Given the description of an element on the screen output the (x, y) to click on. 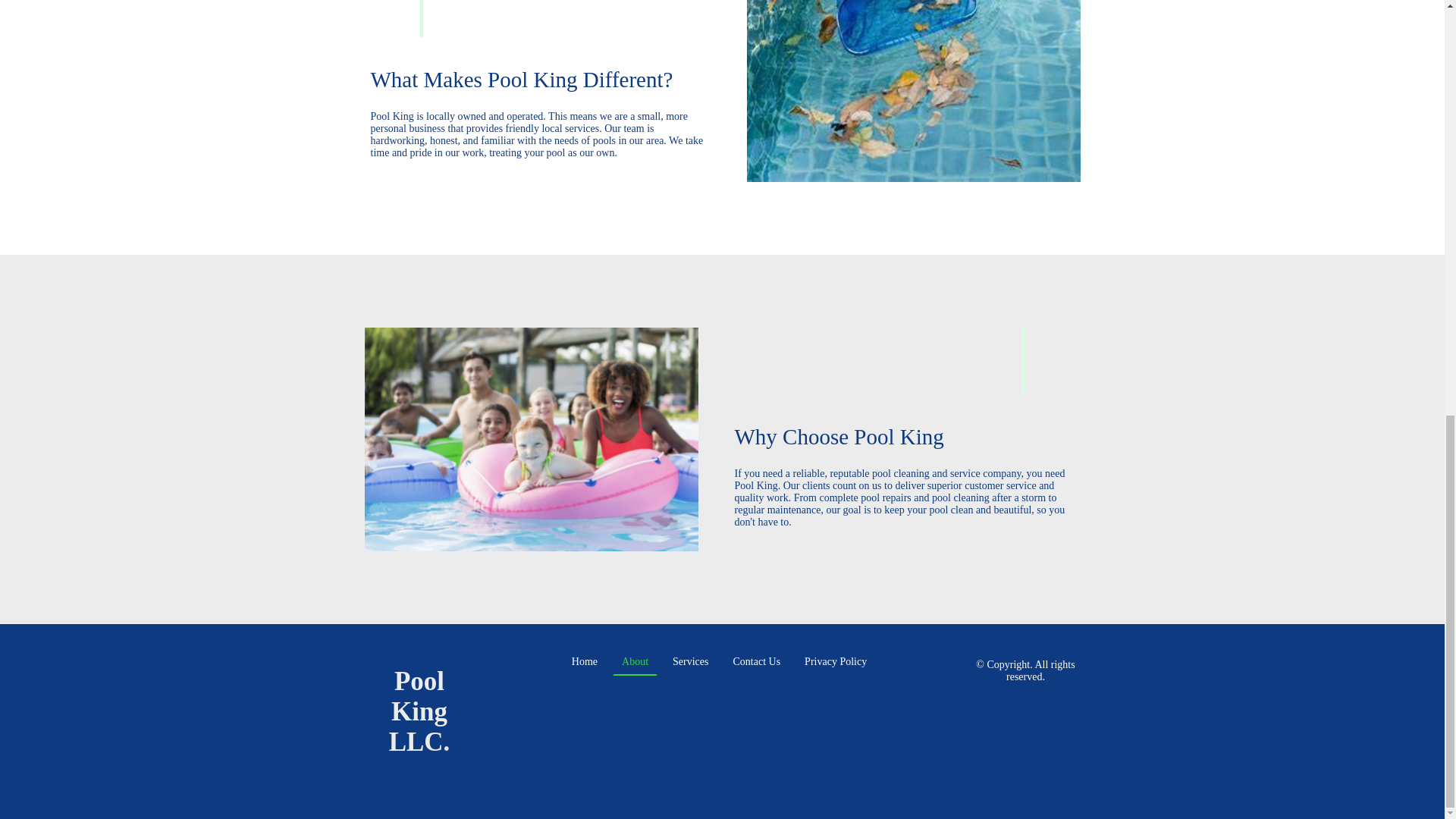
Contact Us (756, 662)
Home (584, 662)
About (635, 662)
Pool King LLC. (418, 787)
Privacy Policy (835, 662)
Services (690, 662)
